Given the description of an element on the screen output the (x, y) to click on. 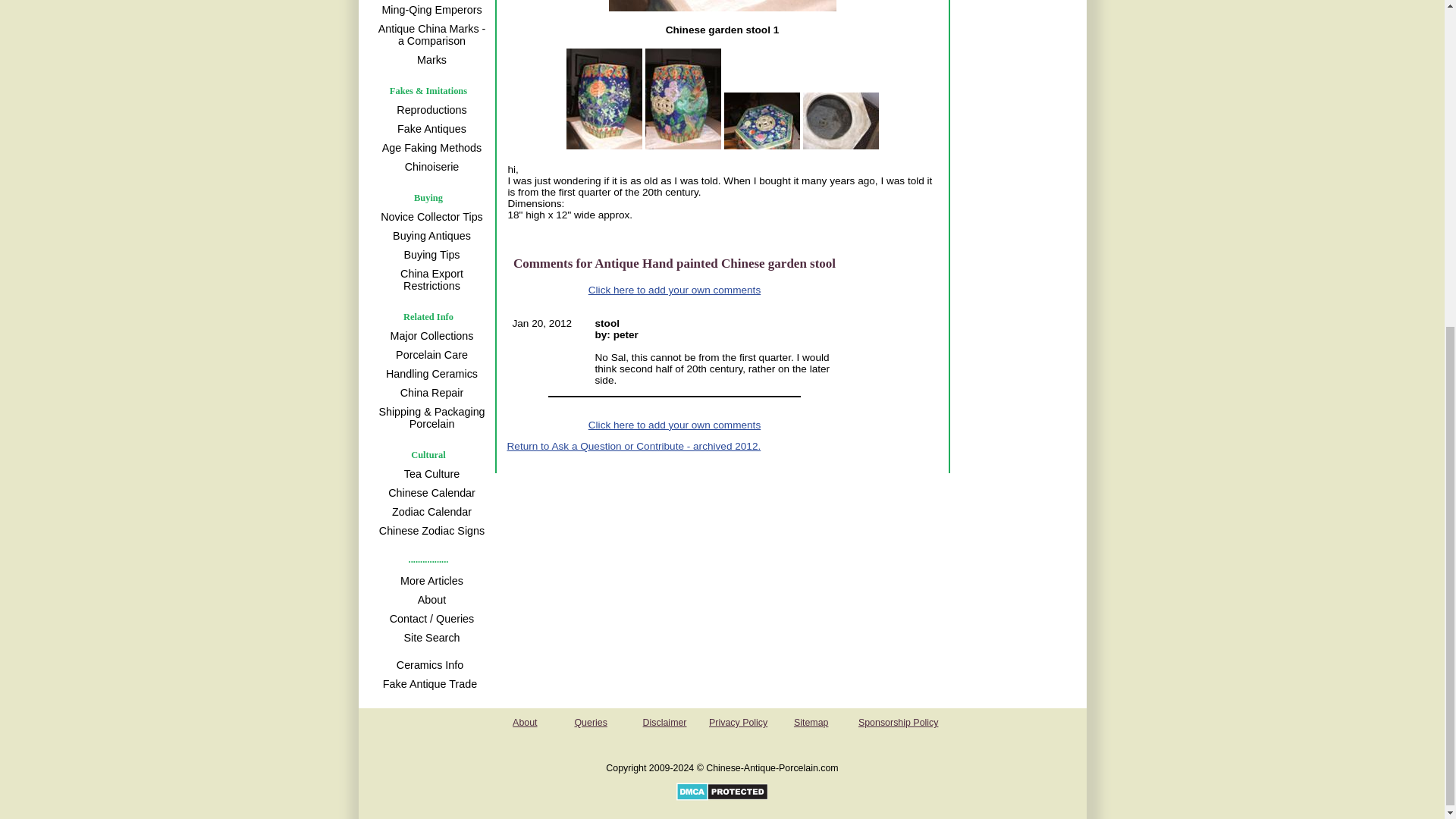
Chinese garden stool 4 (839, 120)
Porcelain Care (429, 354)
China Export Restrictions (429, 279)
Handling Ceramics (429, 373)
Buying Tips (429, 254)
Antique China Marks - a Comparison (429, 34)
Major Collections (429, 335)
DMCA (722, 797)
Click here to add your own comments (674, 424)
Chinese garden stool 1 (721, 5)
